Given the description of an element on the screen output the (x, y) to click on. 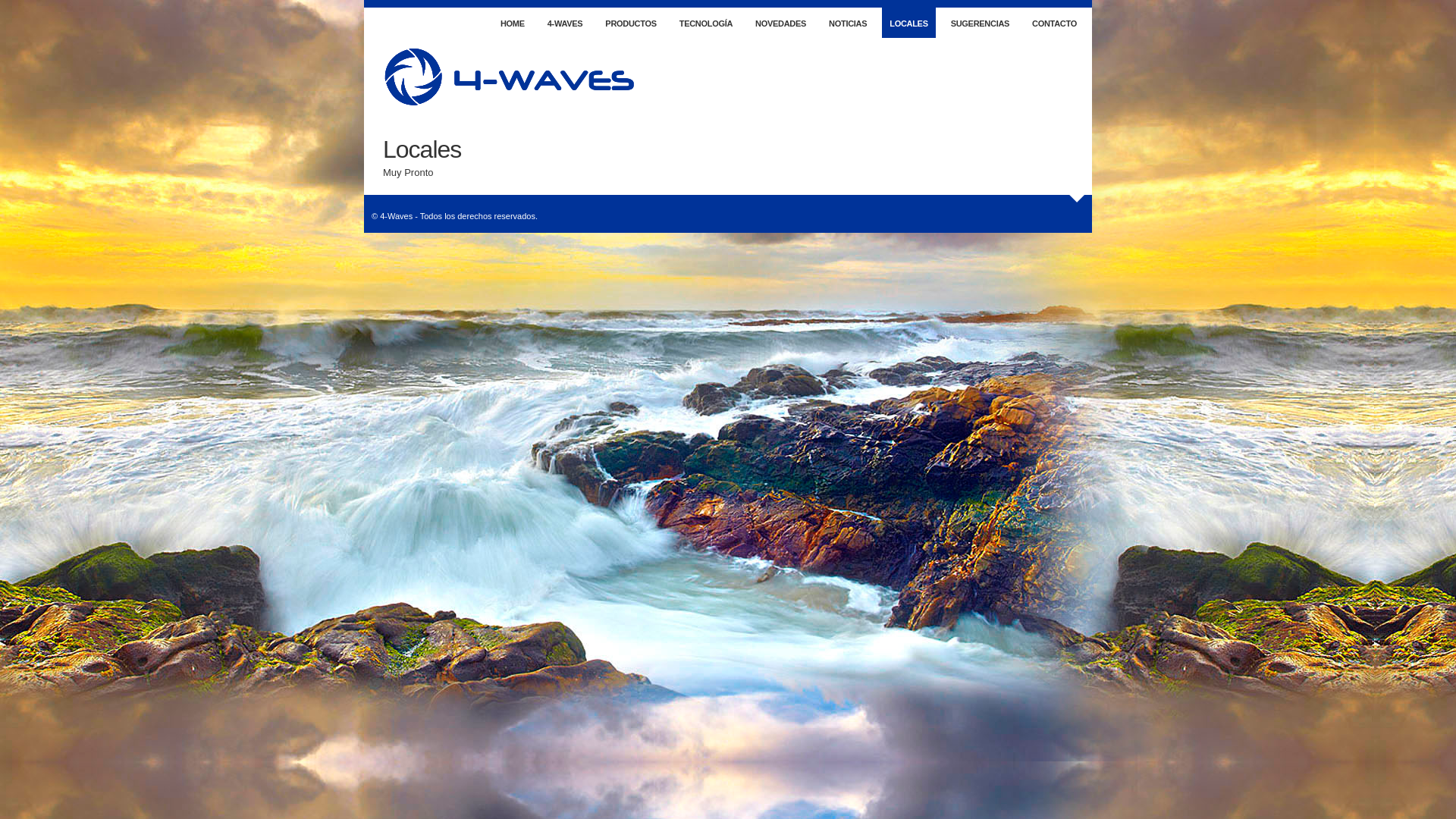
PRODUCTOS Element type: text (630, 22)
NOVEDADES Element type: text (780, 22)
SUGERENCIAS Element type: text (979, 22)
NOTICIAS Element type: text (847, 22)
4-WAVES Element type: text (564, 22)
HOME Element type: text (512, 22)
LOCALES Element type: text (908, 22)
CONTACTO Element type: text (1054, 22)
